Given the description of an element on the screen output the (x, y) to click on. 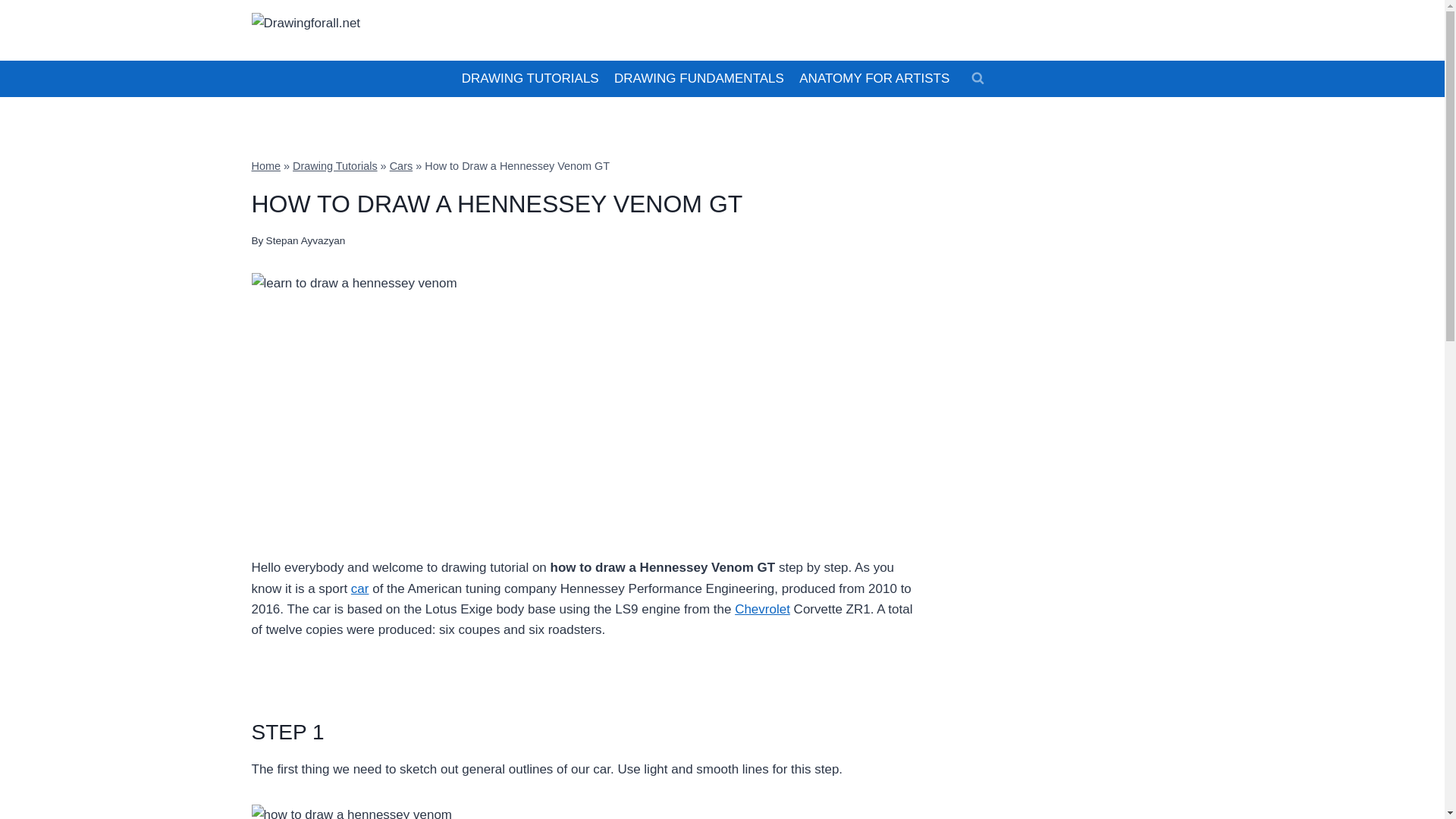
How to Draw a Chevrolet Camaro (762, 608)
DRAWING TUTORIALS (528, 78)
Cars (401, 165)
ANATOMY FOR ARTISTS (874, 78)
Drawing Tutorials (334, 165)
How to Draw a Car (359, 588)
Home (266, 165)
car (359, 588)
DRAWING FUNDAMENTALS (699, 78)
Chevrolet (762, 608)
